Given the description of an element on the screen output the (x, y) to click on. 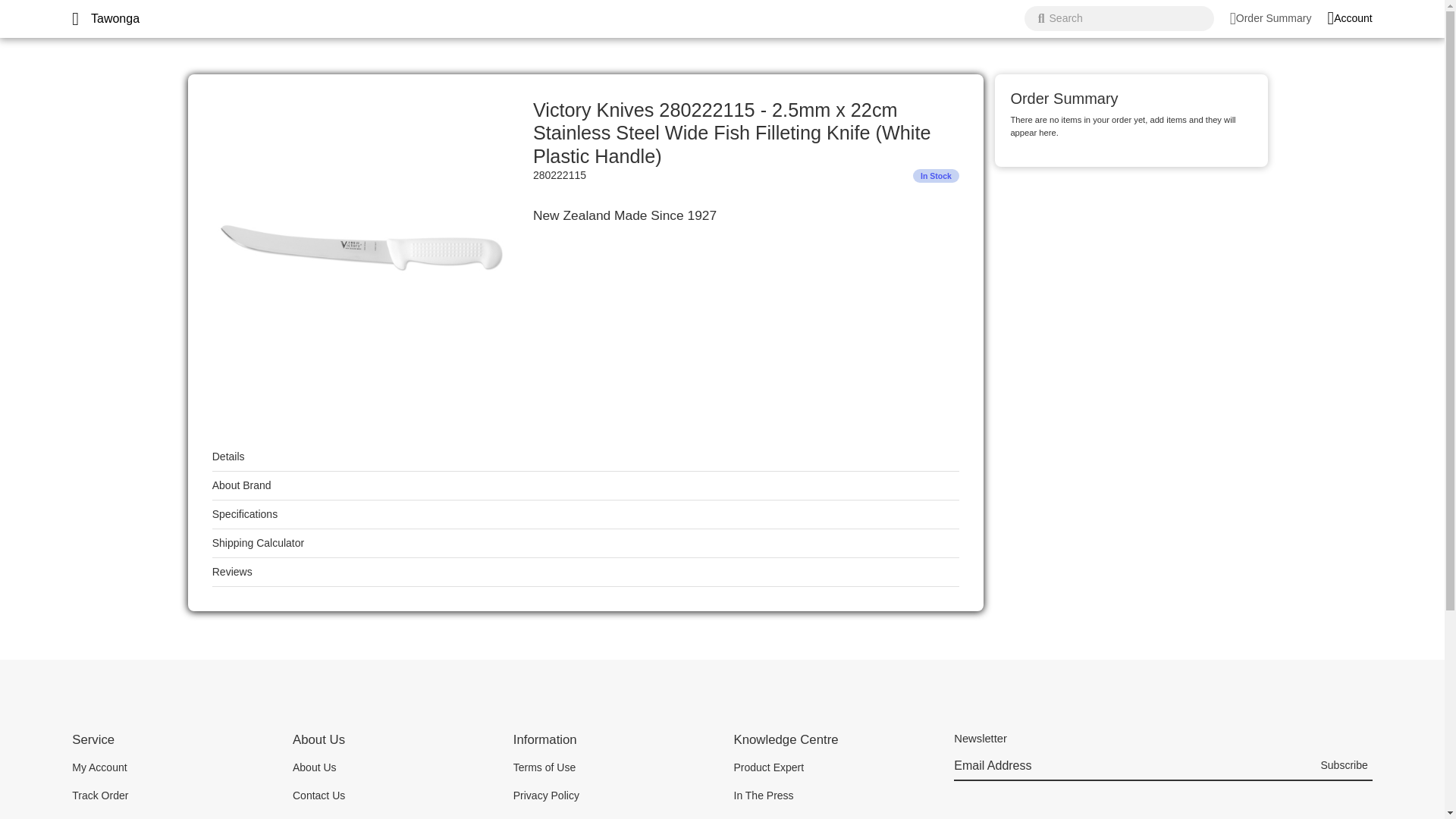
Account (1348, 18)
Order Summary (1271, 18)
Subscribe (1343, 766)
Tawonga (114, 18)
